Given the description of an element on the screen output the (x, y) to click on. 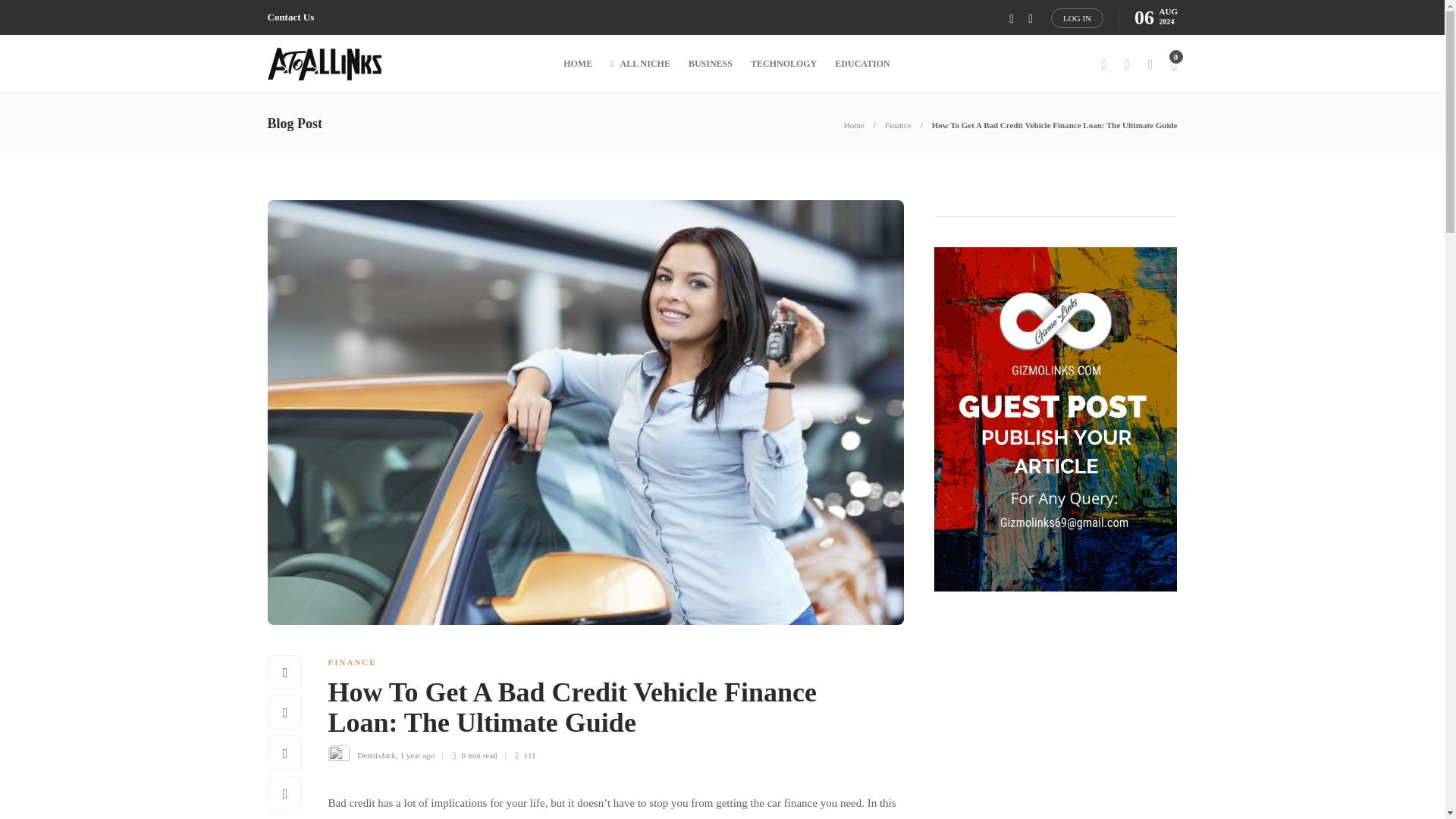
DennisJack (376, 755)
LOG IN (1077, 17)
EDUCATION (861, 63)
ALL NICHE (639, 63)
TECHNOLOGY (783, 63)
Finance (898, 124)
FINANCE (351, 661)
Home (854, 124)
